Given the description of an element on the screen output the (x, y) to click on. 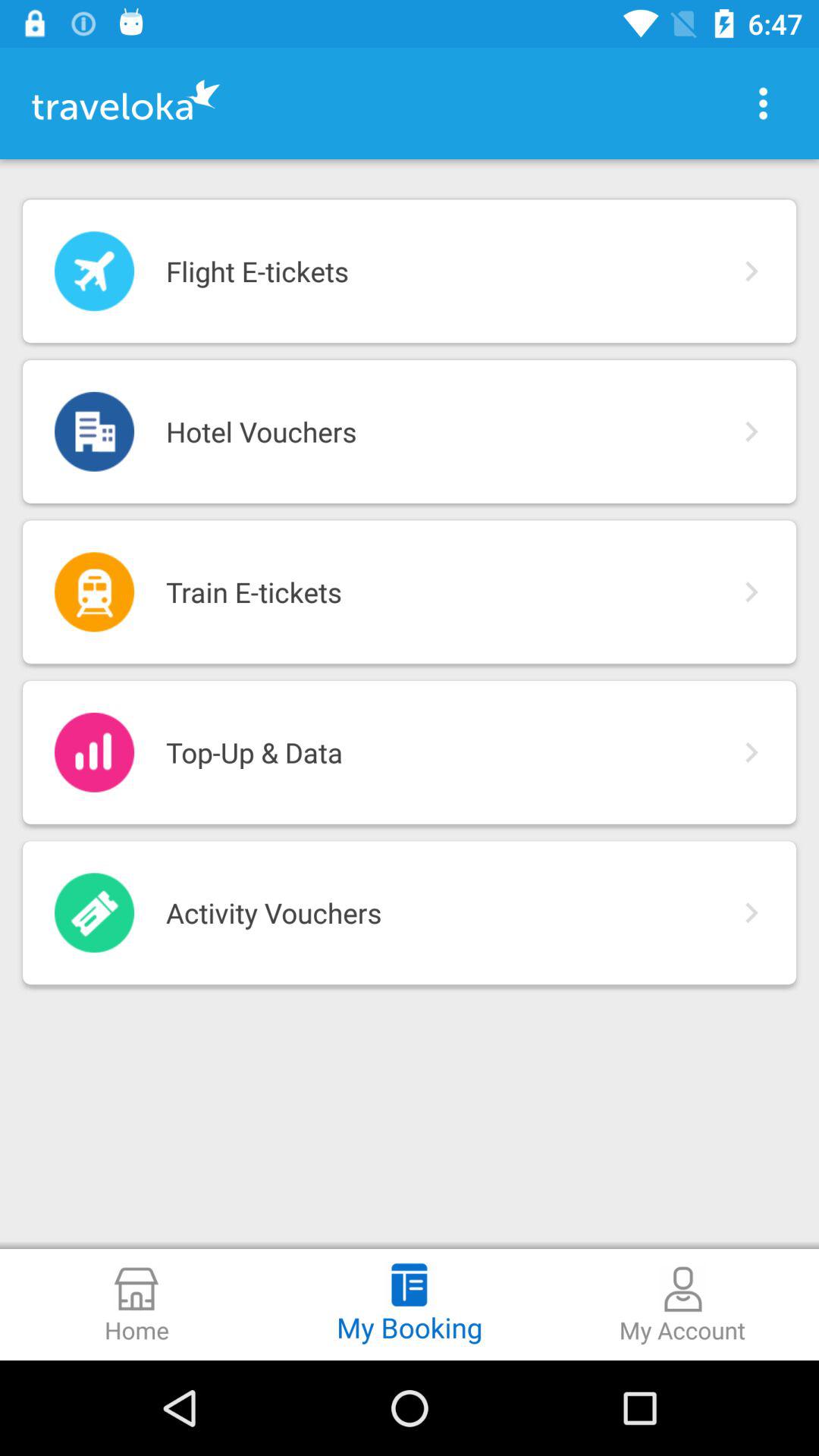
clique para abri o menu (763, 103)
